Given the description of an element on the screen output the (x, y) to click on. 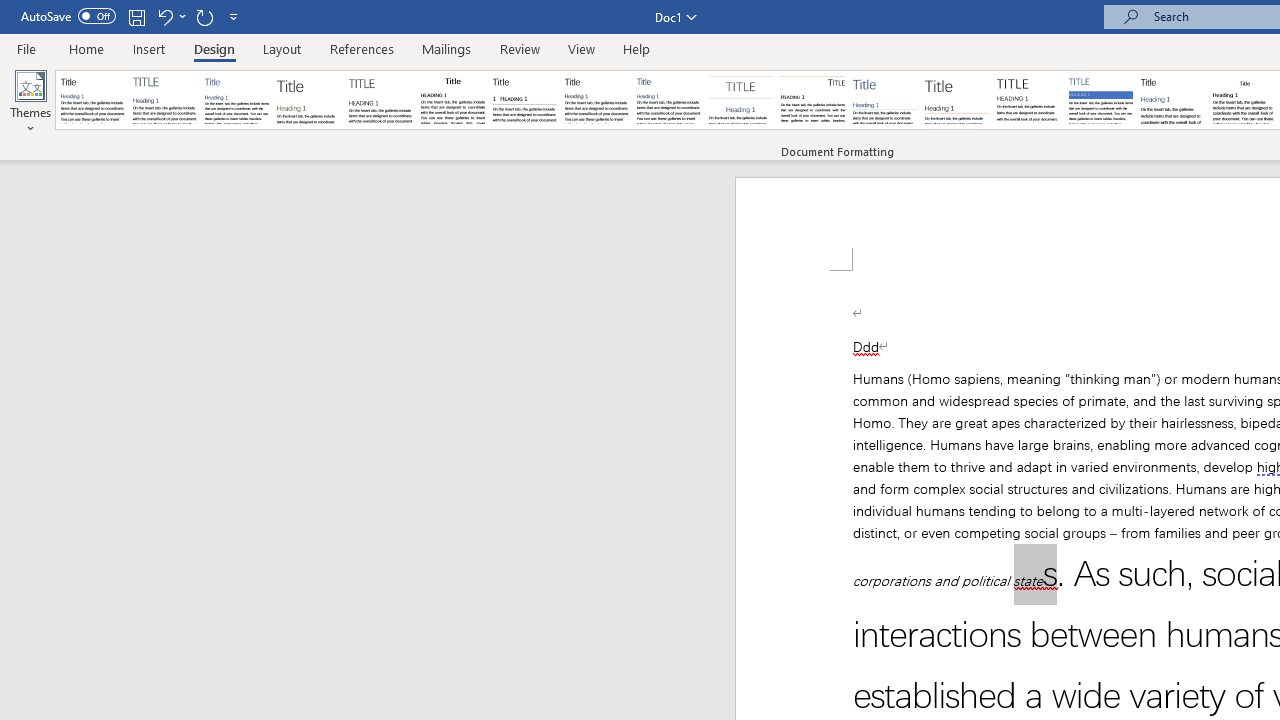
Lines (Stylish) (957, 100)
References (362, 48)
Minimalist (1028, 100)
Layout (282, 48)
View (582, 48)
Casual (669, 100)
Customize Quick Access Toolbar (234, 15)
File Tab (26, 48)
Centered (740, 100)
Word (1172, 100)
Black & White (Capitalized) (381, 100)
AutoSave (68, 16)
